Given the description of an element on the screen output the (x, y) to click on. 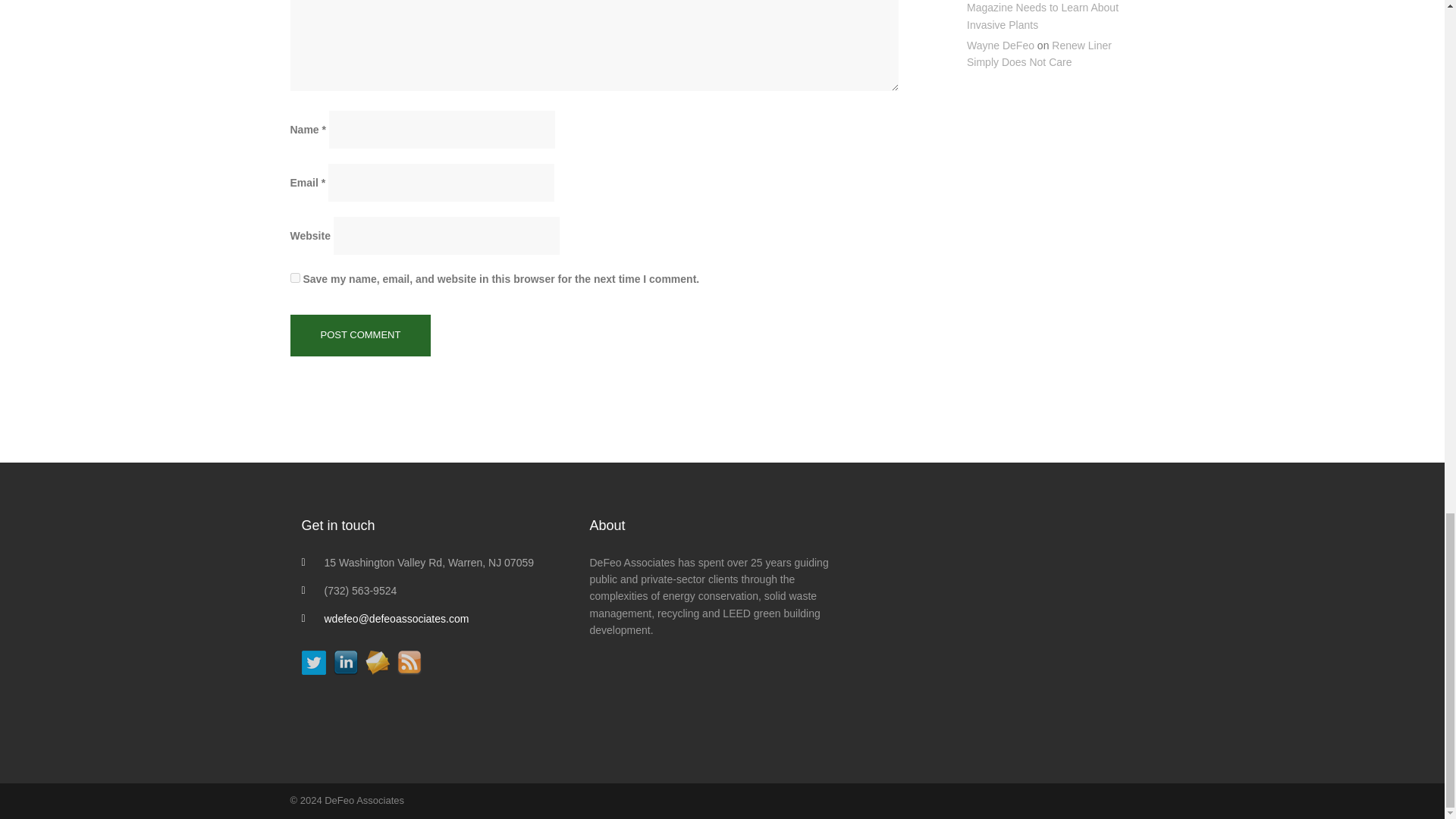
Post Comment (359, 335)
Follow Us on Twitter (313, 662)
Wayne Defeo on LEED-certified structures and Hurricane Sandy (1009, 614)
Post Comment (359, 335)
yes (294, 277)
Follow Us on E-mail (377, 662)
Follow Us on RSS (409, 662)
Follow Us on LinkedIn (345, 662)
